Given the description of an element on the screen output the (x, y) to click on. 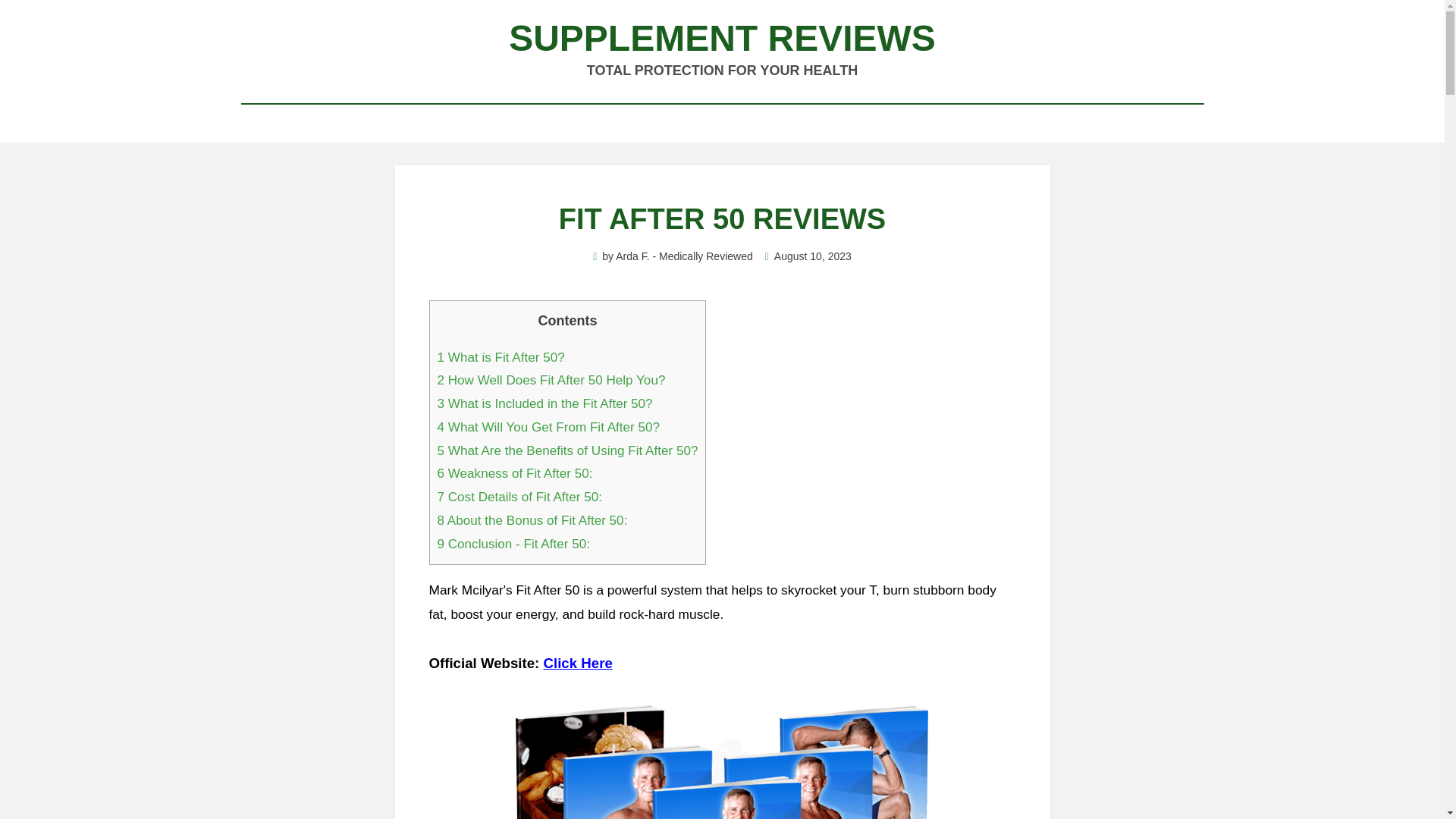
9 Conclusion - Fit After 50: (512, 544)
5 What Are the Benefits of Using Fit After 50? (566, 450)
8 About the Bonus of Fit After 50: (531, 520)
August 10, 2023 (808, 256)
1 What is Fit After 50? (500, 357)
6 Weakness of Fit After 50: (514, 473)
2 How Well Does Fit After 50 Help You? (550, 380)
SUPPLEMENT REVIEWS (722, 38)
3 What is Included in the Fit After 50? (544, 403)
Click Here (577, 662)
7 Cost Details of Fit After 50: (519, 496)
Arda F. - Medically Reviewed (683, 256)
Supplement Reviews (722, 38)
4 What Will You Get From Fit After 50? (547, 427)
